Given the description of an element on the screen output the (x, y) to click on. 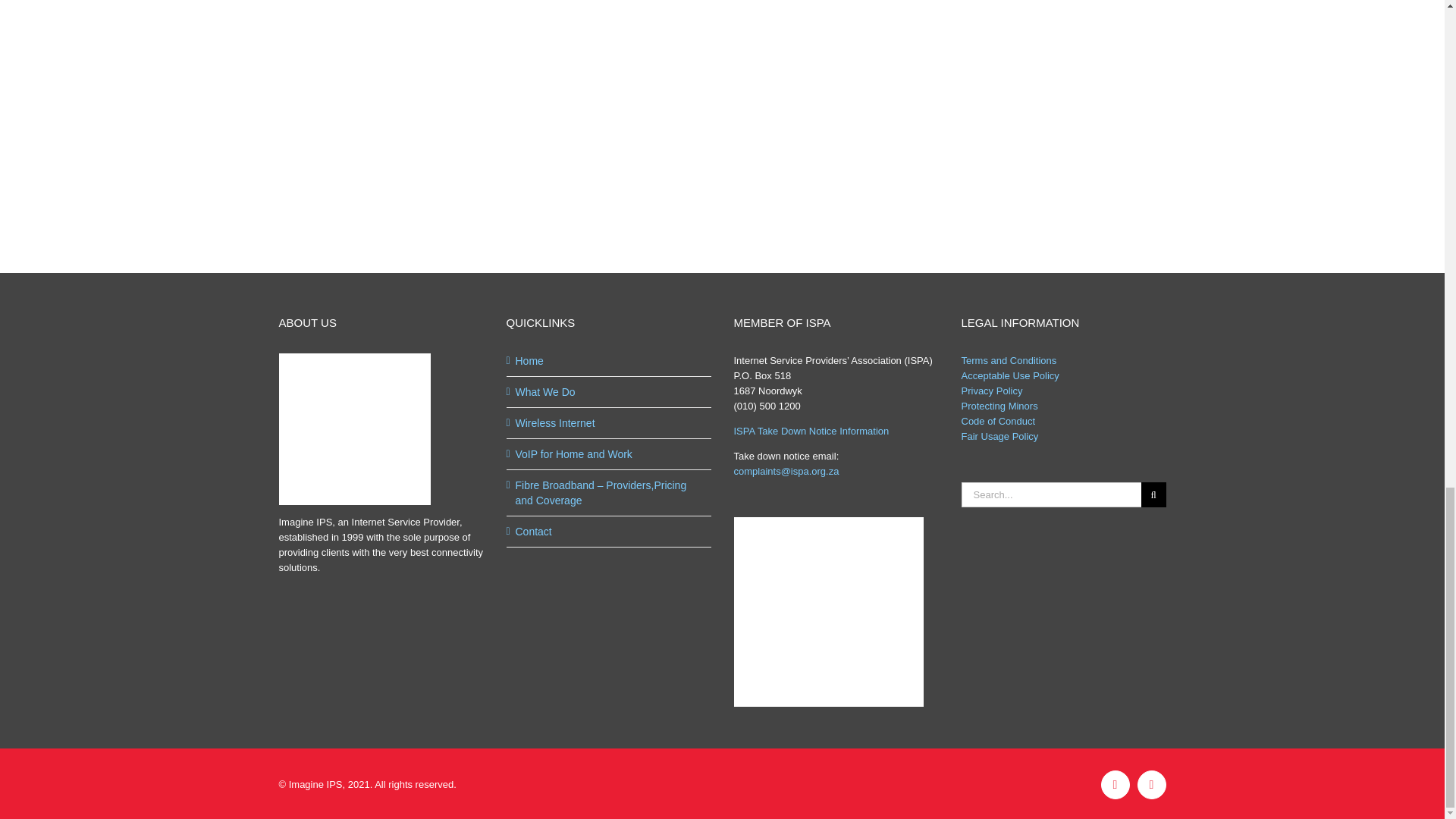
Facebook (1114, 784)
Wireless Internet (609, 422)
Twitter (1151, 784)
Home (609, 360)
What We Do (609, 391)
